Given the description of an element on the screen output the (x, y) to click on. 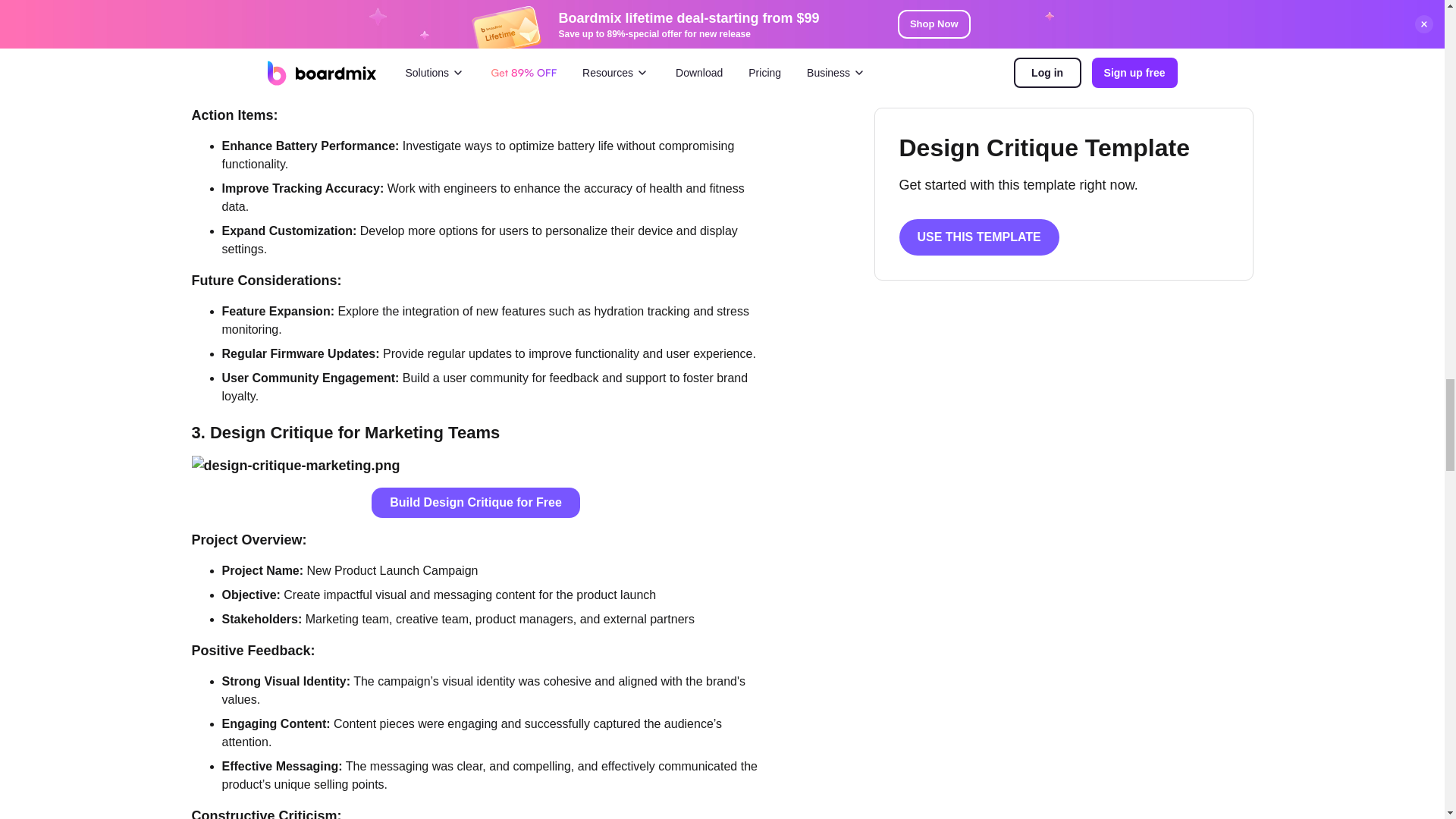
Build Design Critique for Free (475, 502)
